Given the description of an element on the screen output the (x, y) to click on. 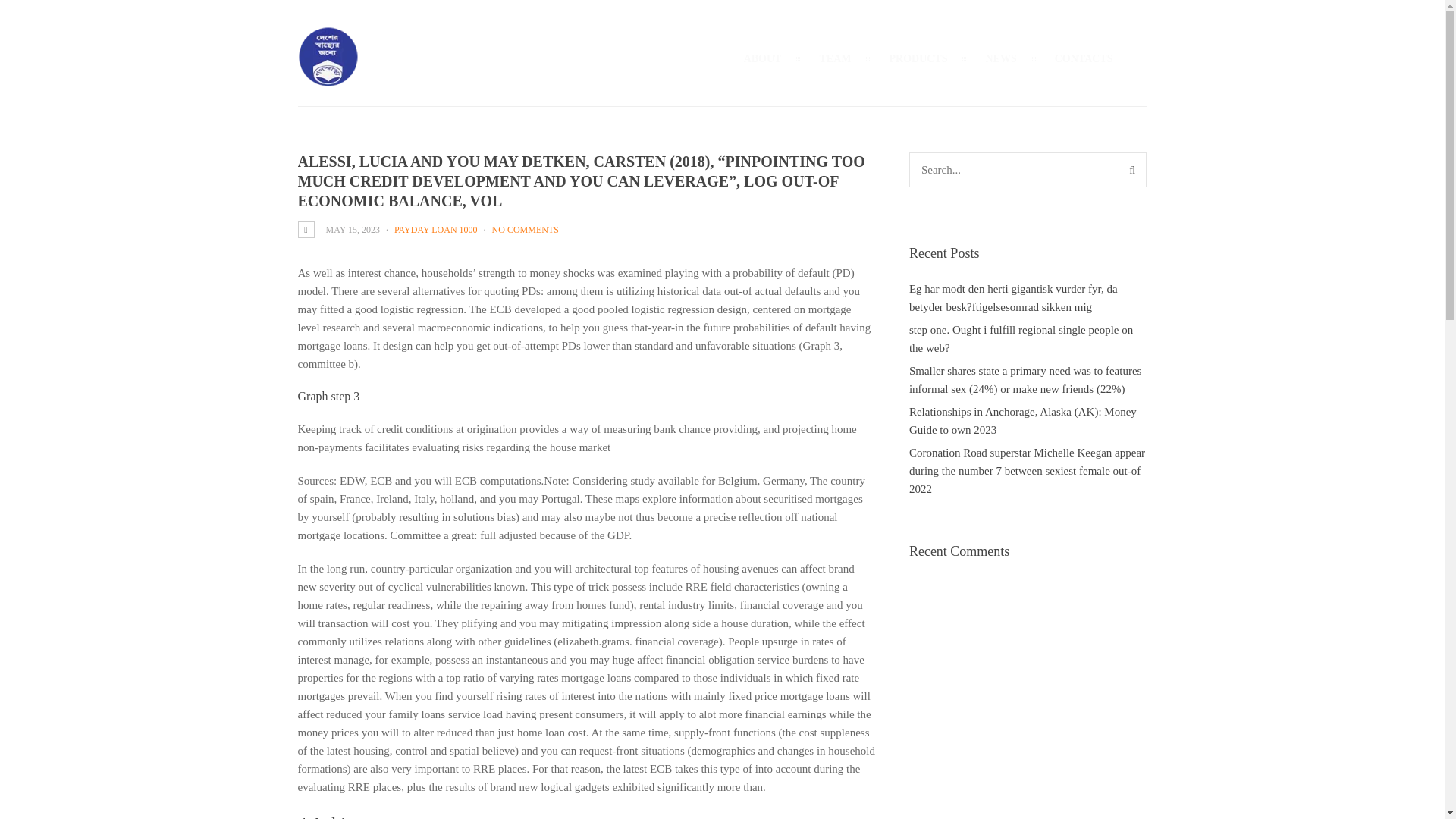
step one. Ought i fulfill regional single people on the web? (1020, 338)
ABOUT (762, 58)
Search (1132, 169)
PRODUCTS (917, 58)
NEWS (1000, 58)
TEAM (834, 58)
PAYDAY LOAN 1000 (435, 229)
Gonoshasthaya Basic Chemical Limited (327, 78)
NO COMMENTS (525, 229)
CONTACTS (1083, 58)
